Given the description of an element on the screen output the (x, y) to click on. 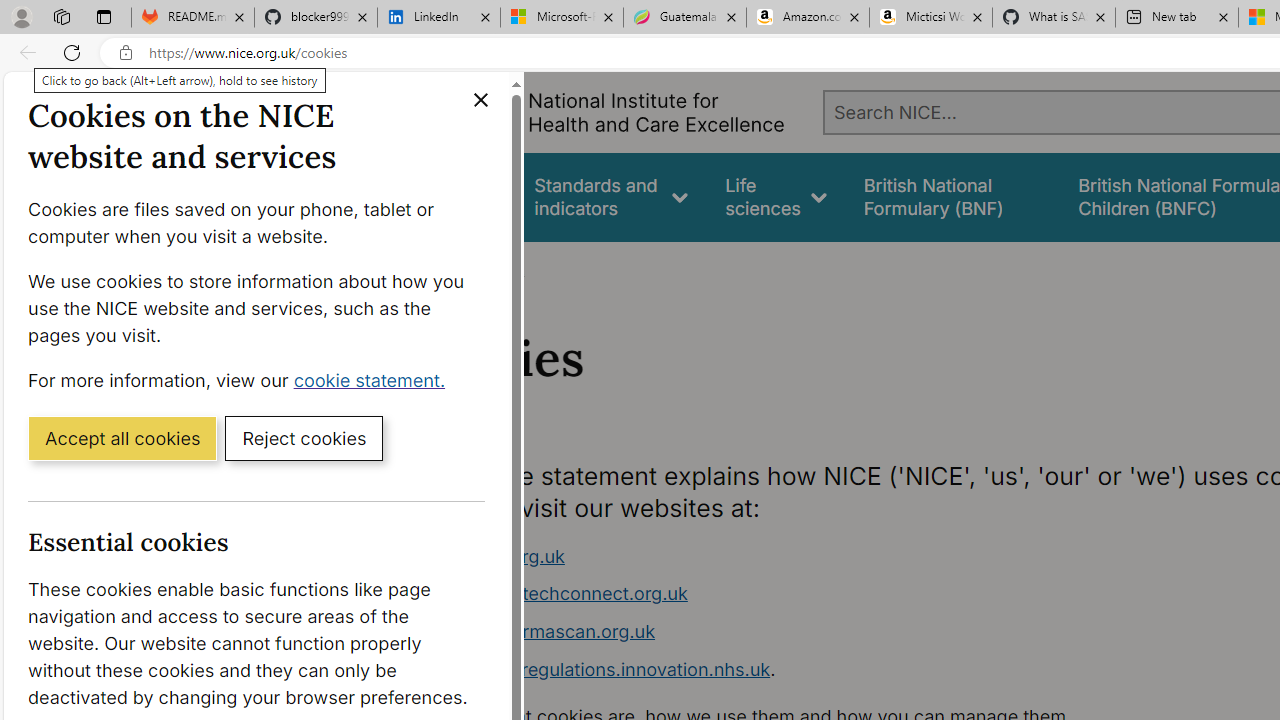
www.nice.org.uk (492, 556)
www.ukpharmascan.org.uk (538, 631)
www.healthtechconnect.org.uk (796, 594)
www.ukpharmascan.org.uk (796, 632)
Accept all cookies (122, 437)
www.digitalregulations.innovation.nhs.uk. (796, 669)
